Given the description of an element on the screen output the (x, y) to click on. 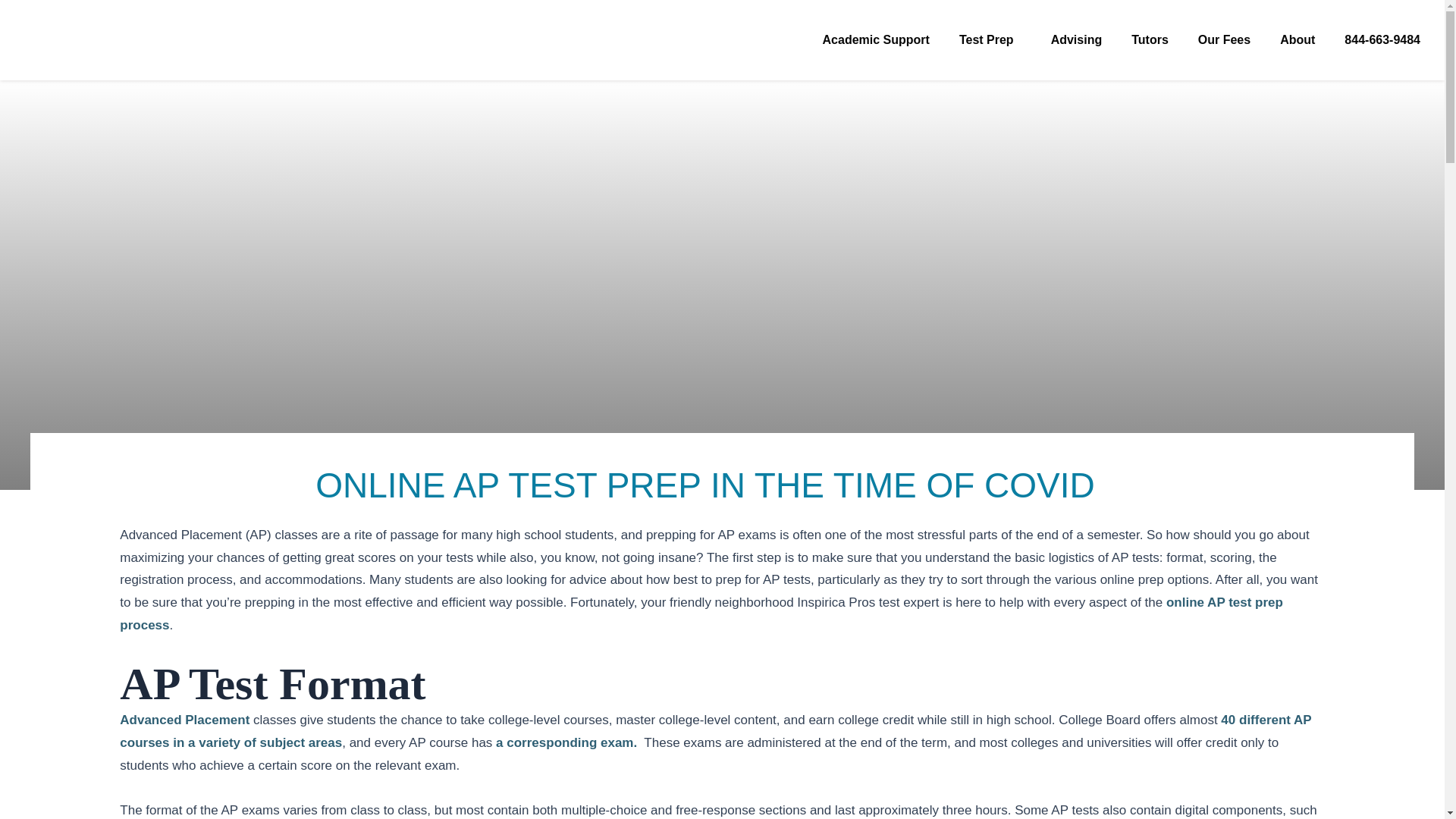
Our Fees (1224, 40)
844-663-9484 (1382, 40)
a corresponding exam. (566, 742)
Advanced Placement (183, 719)
online AP test prep process (700, 613)
Academic Support (876, 40)
Tutors (1149, 40)
About (1297, 40)
Test Prep (990, 40)
Advising (1077, 40)
